Given the description of an element on the screen output the (x, y) to click on. 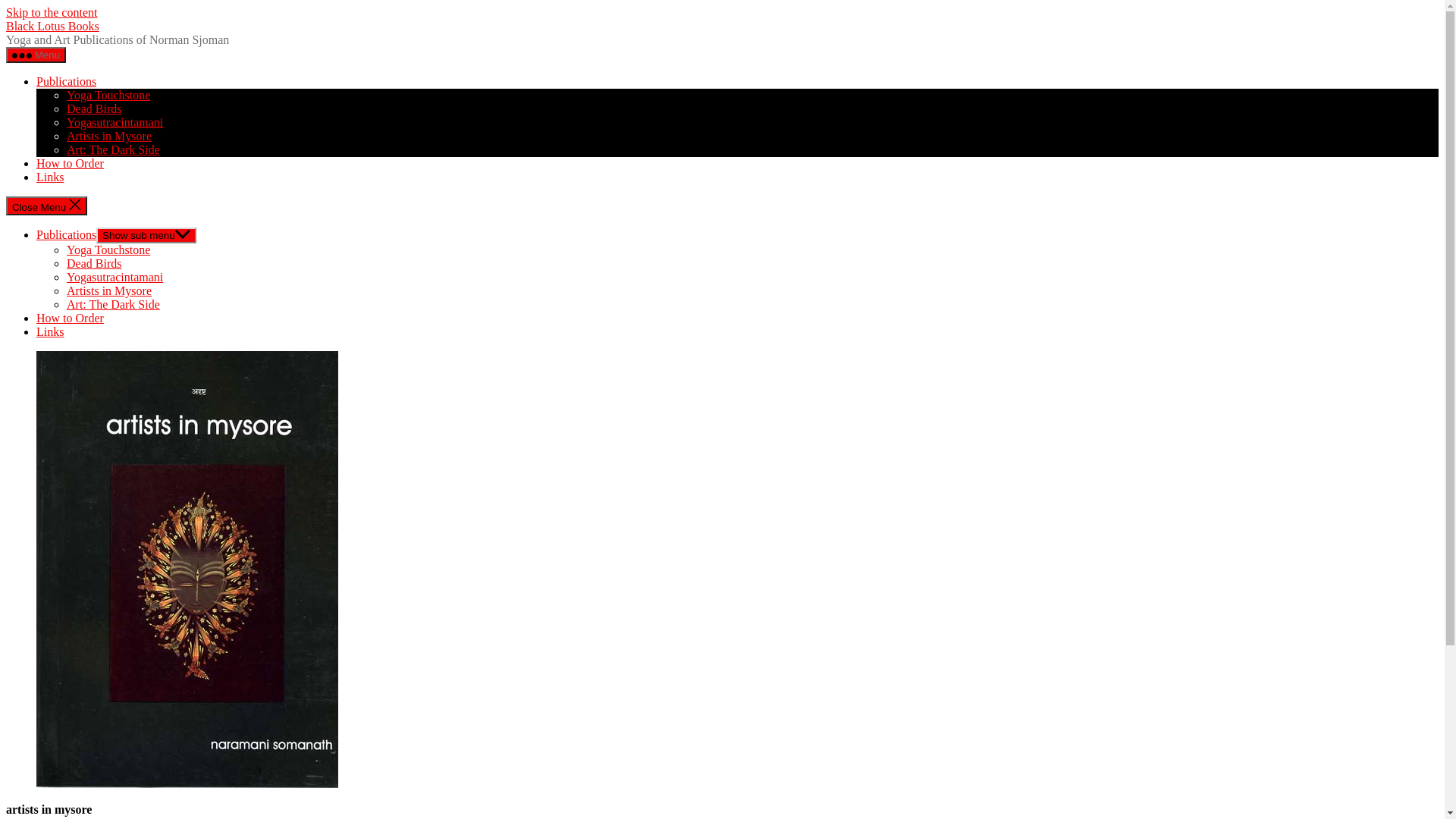
Yoga Touchstone Element type: text (108, 94)
Skip to the content Element type: text (51, 12)
Yoga Touchstone Element type: text (108, 249)
Art: The Dark Side Element type: text (113, 304)
Links Element type: text (49, 331)
Black Lotus Books Element type: text (52, 25)
Links Element type: text (49, 176)
Art: The Dark Side Element type: text (113, 149)
How to Order Element type: text (69, 162)
Yogasutracintamani Element type: text (114, 122)
Dead Birds Element type: text (93, 108)
How to Order Element type: text (69, 317)
Show sub menu Element type: text (146, 235)
Close Menu Element type: text (46, 205)
Publications Element type: text (66, 234)
Yogasutracintamani Element type: text (114, 276)
Artists in Mysore Element type: text (108, 135)
Artists in Mysore Element type: text (108, 290)
Publications Element type: text (66, 81)
Menu Element type: text (35, 54)
Dead Birds Element type: text (93, 263)
